Given the description of an element on the screen output the (x, y) to click on. 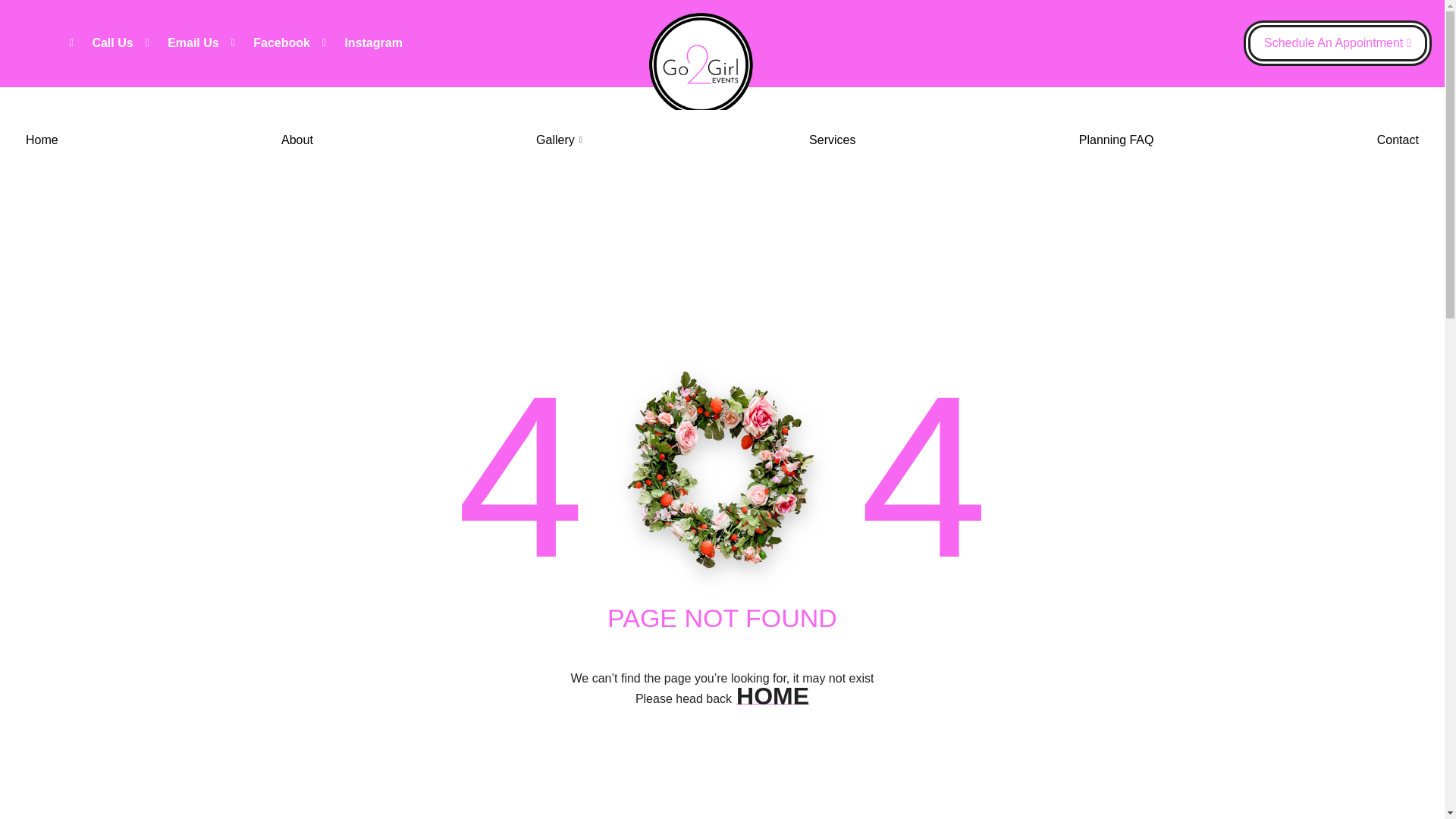
Home (41, 139)
HOME (772, 696)
Facebook (270, 43)
About (296, 139)
Services (831, 139)
Instagram (362, 43)
Contact (1397, 139)
Email Us (182, 43)
Gallery (560, 139)
Planning FAQ (1116, 139)
